Given the description of an element on the screen output the (x, y) to click on. 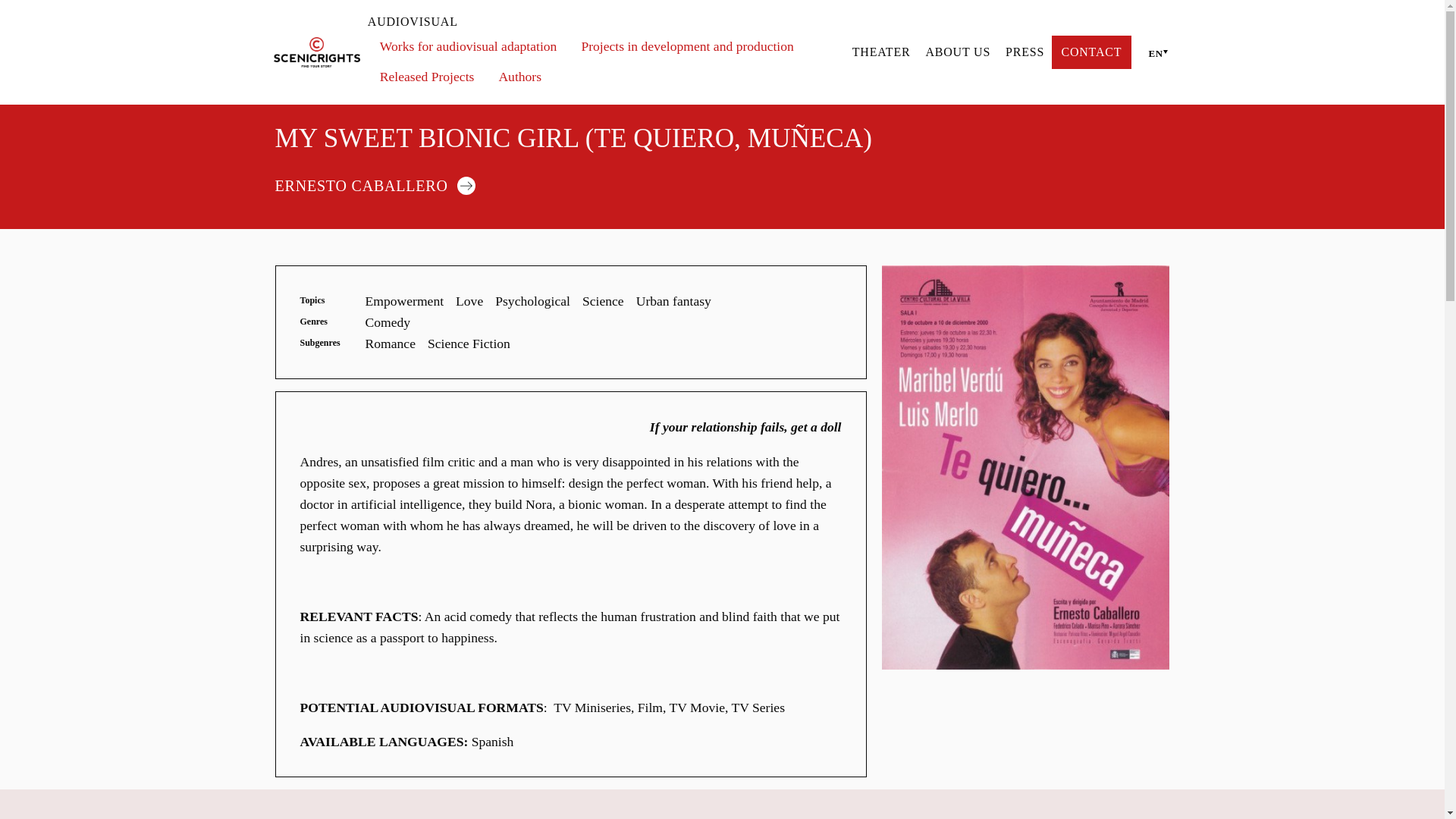
Released Projects (427, 77)
EN (1154, 51)
ABOUT US (957, 52)
ERNESTO CABALLERO (381, 184)
Authors (519, 77)
THEATER (881, 52)
CONTACT (1091, 52)
Works for audiovisual adaptation (468, 46)
Projects in development and production (687, 46)
